Given the description of an element on the screen output the (x, y) to click on. 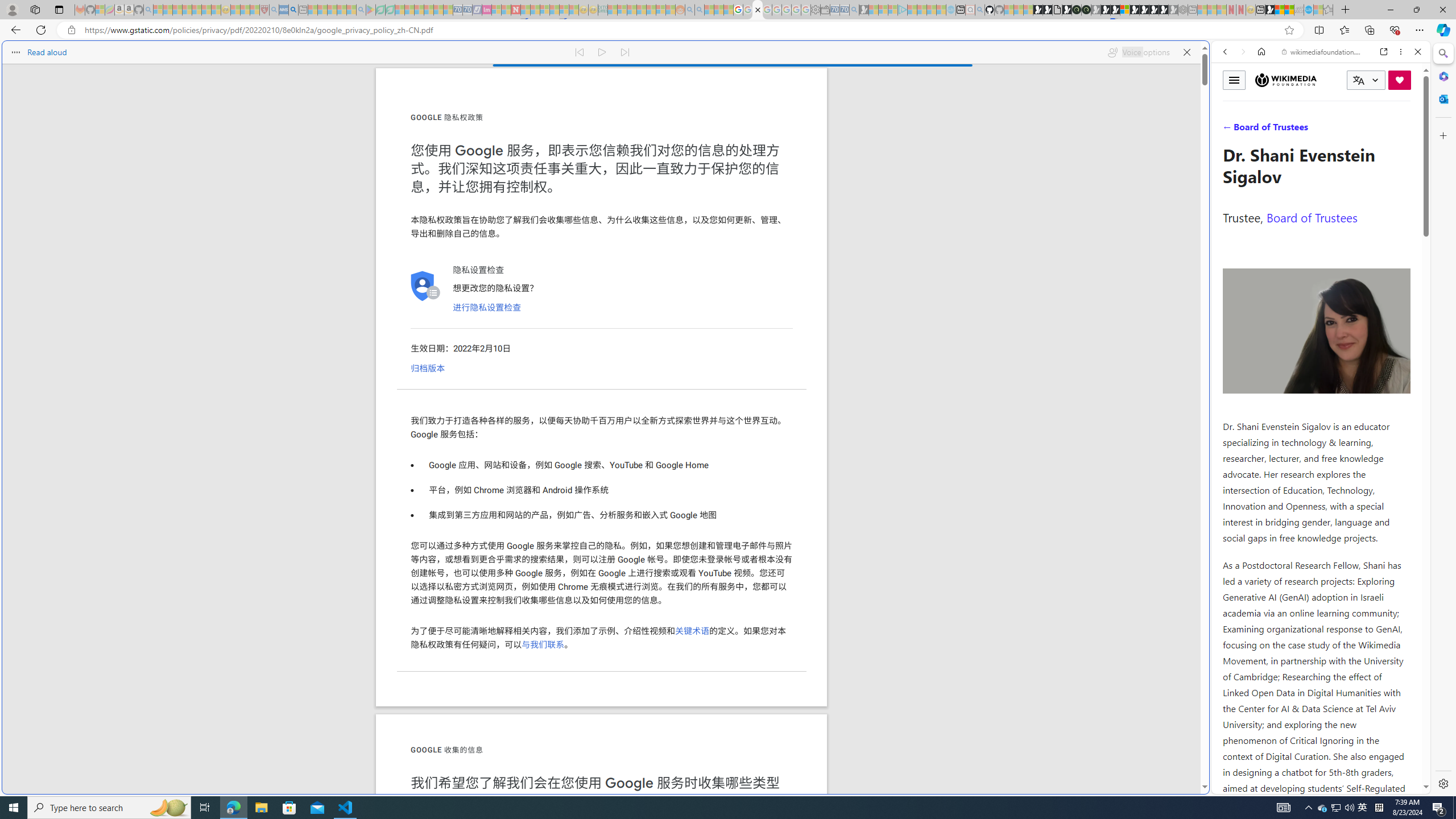
Voice options (1138, 52)
